Given the description of an element on the screen output the (x, y) to click on. 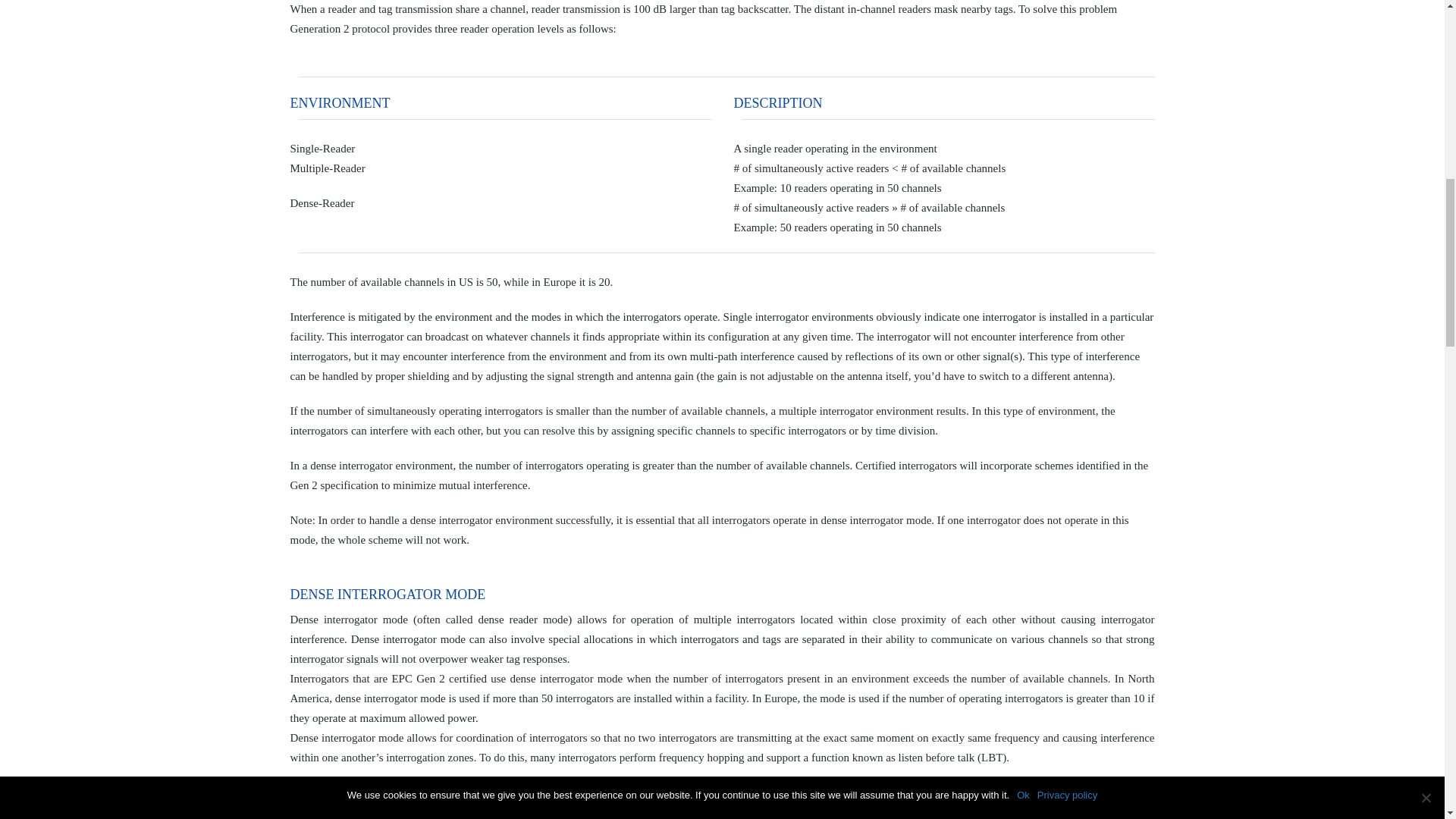
DENSE INTERROGATOR MODE (722, 814)
